Given the description of an element on the screen output the (x, y) to click on. 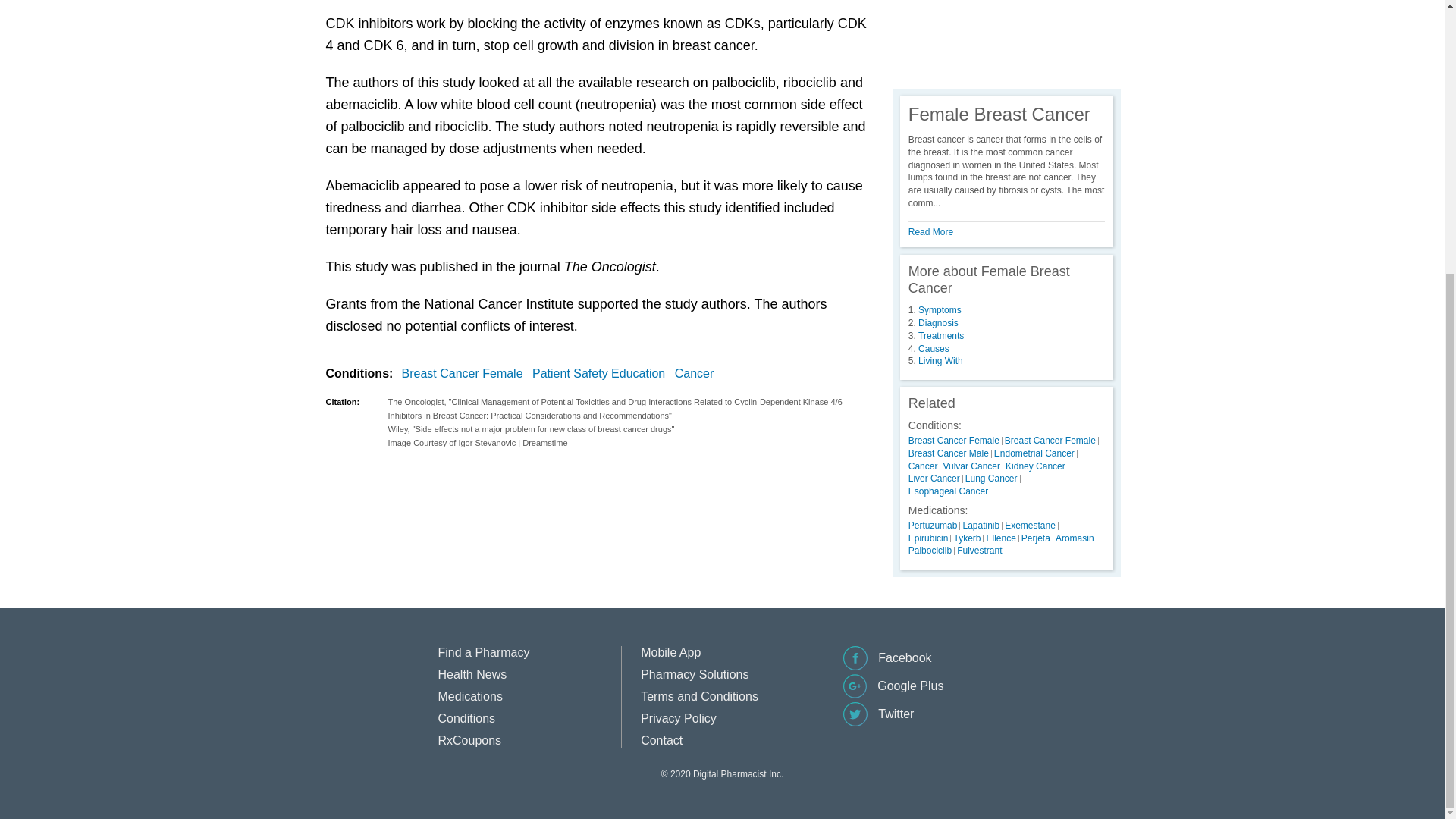
Patient Safety Education (601, 373)
Cancer (697, 373)
Breast Cancer Female (465, 373)
